Given the description of an element on the screen output the (x, y) to click on. 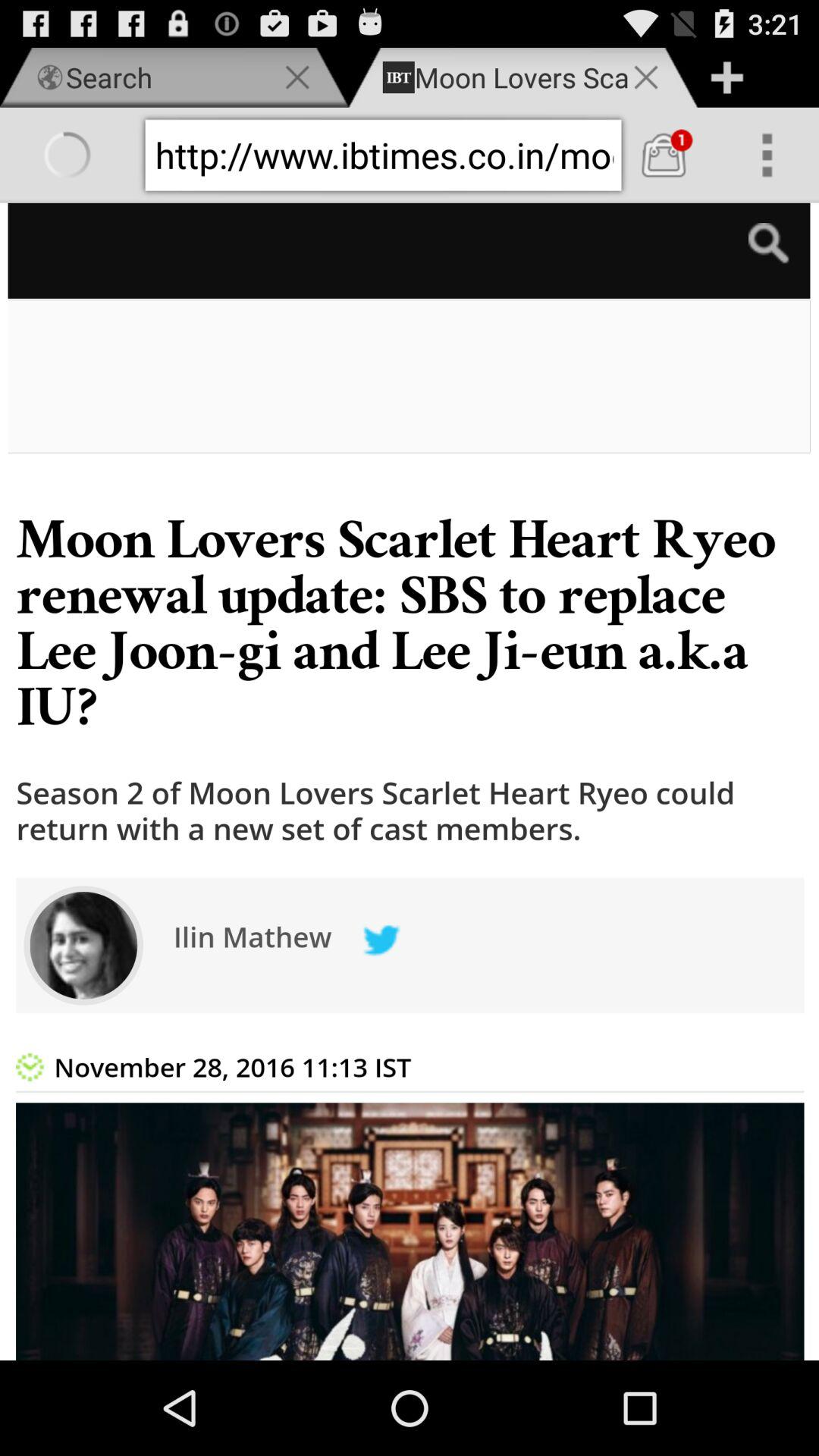
share the article (409, 781)
